Given the description of an element on the screen output the (x, y) to click on. 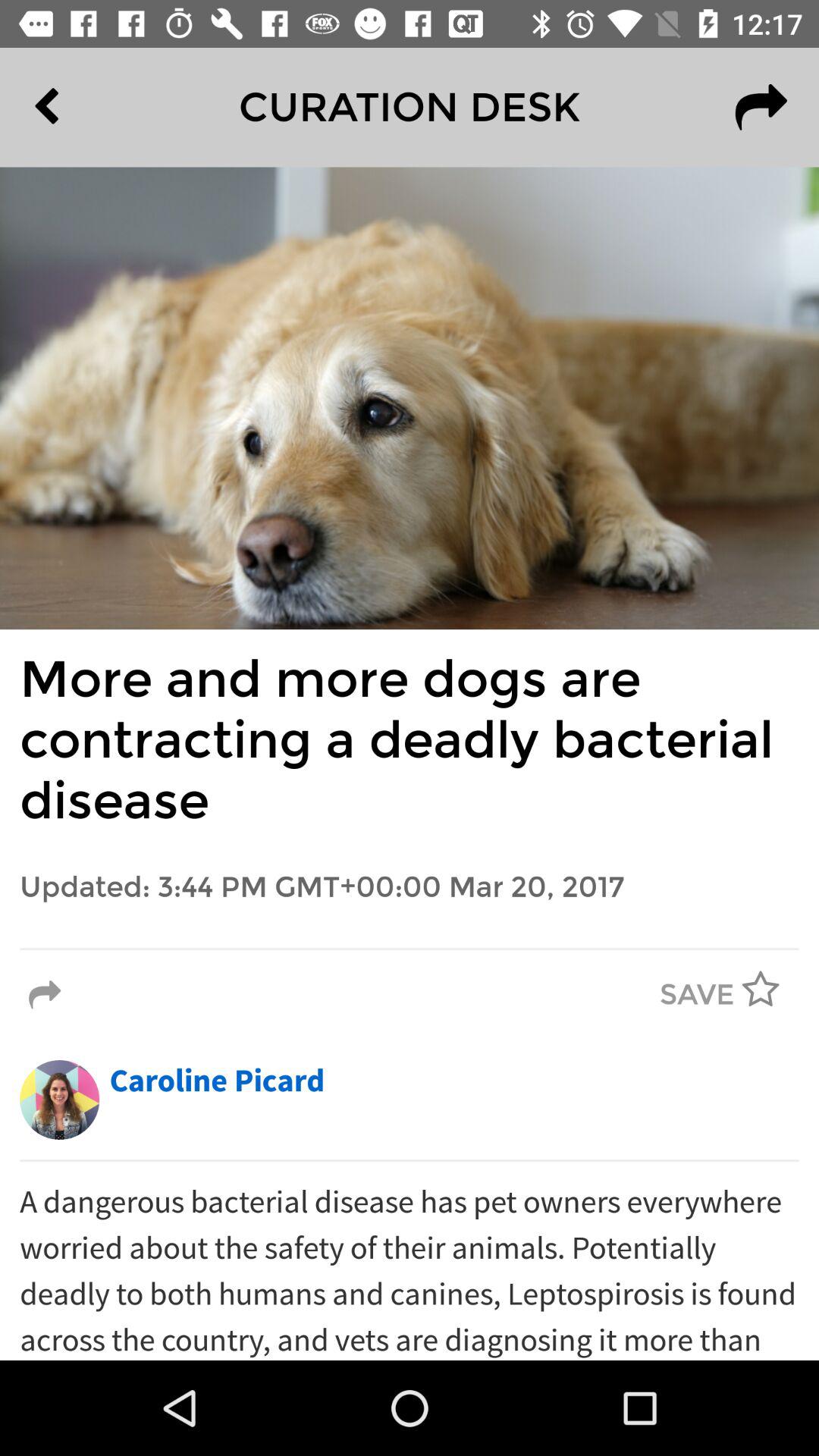
tap icon at the top right corner (761, 107)
